Given the description of an element on the screen output the (x, y) to click on. 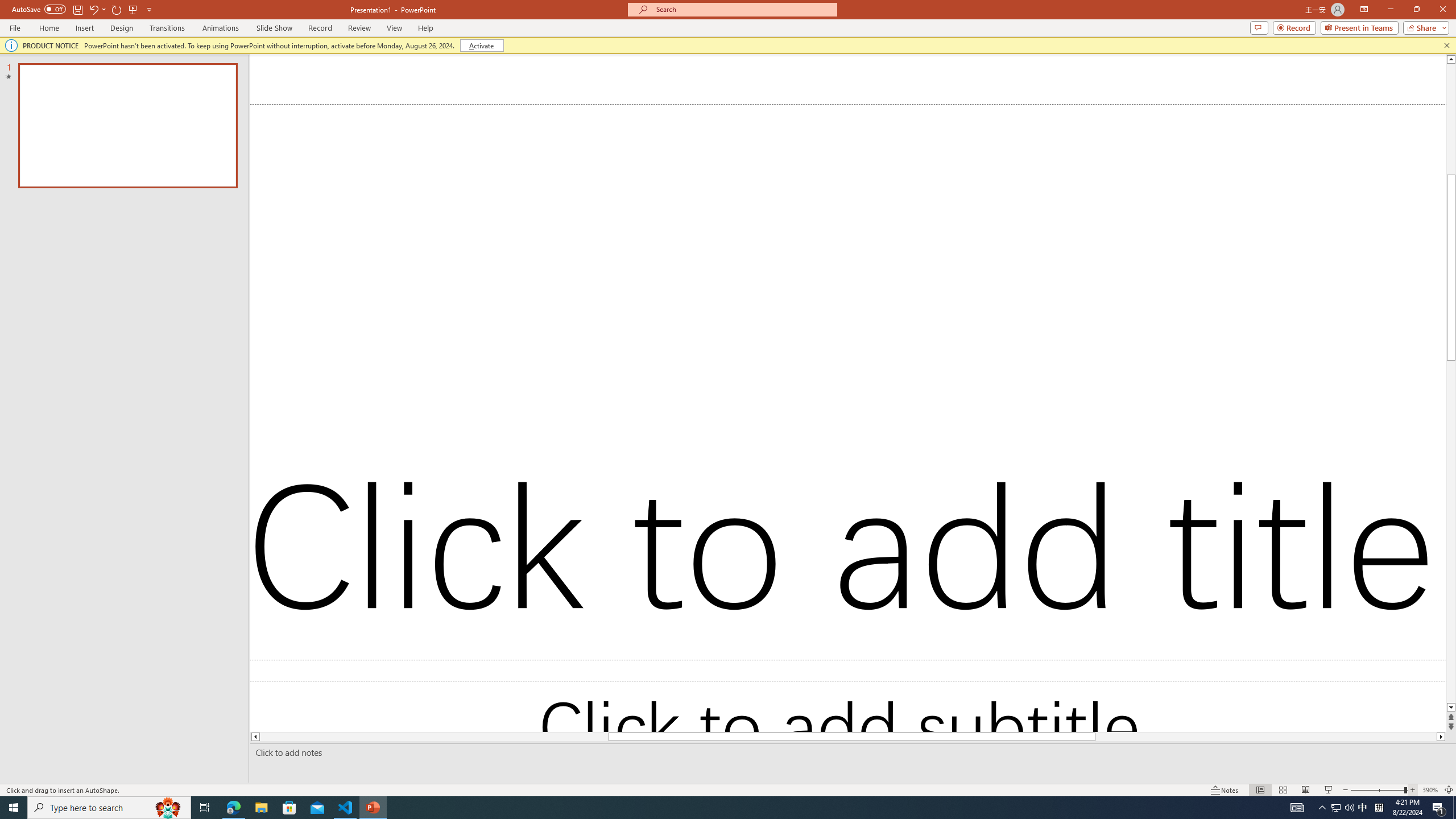
AutoSave (38, 9)
Comments (1259, 27)
Activate (481, 45)
Normal (1260, 790)
Zoom In (1412, 790)
Quick Access Toolbar (82, 9)
Insert (83, 28)
More Options (103, 9)
Zoom Out (1377, 790)
Share (1423, 27)
Zoom (1379, 790)
Microsoft search (742, 9)
